Given the description of an element on the screen output the (x, y) to click on. 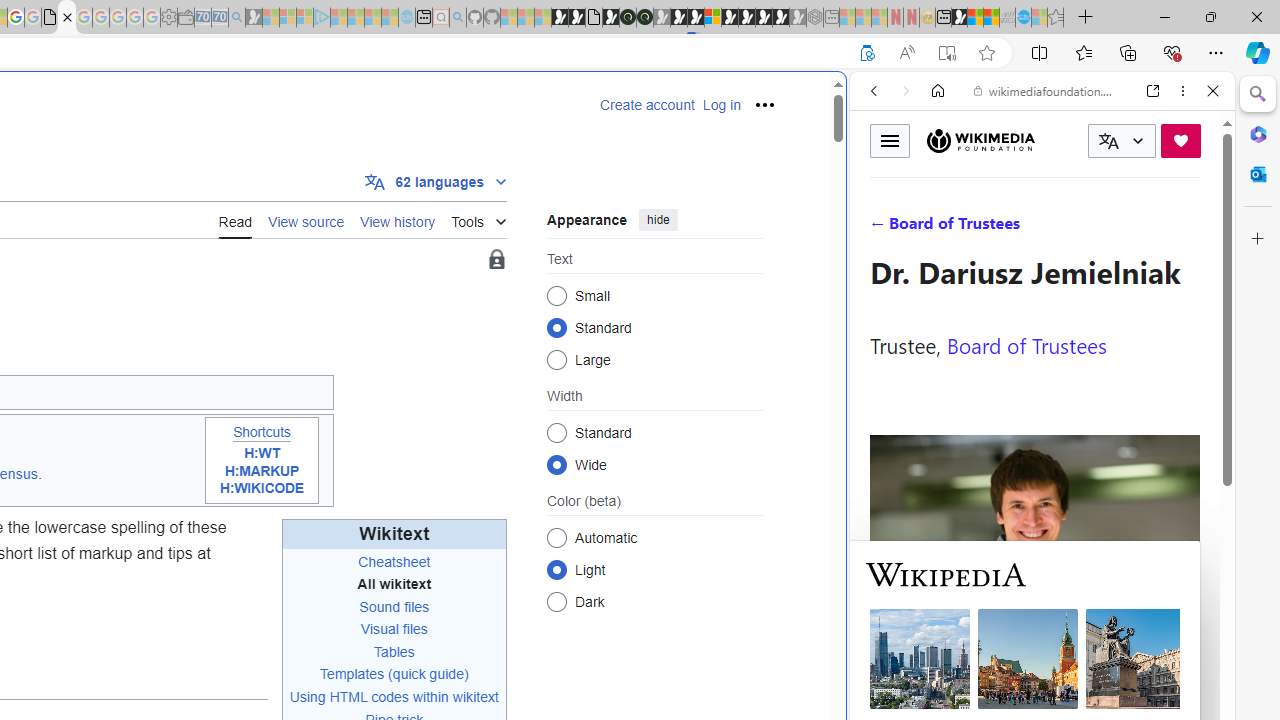
H:WIKICODE (262, 489)
Sound files (394, 606)
Personal tools (764, 104)
Log in (721, 105)
Dark (556, 601)
wikimediafoundation.org (1045, 90)
Board of Trustees (1026, 344)
